Given the description of an element on the screen output the (x, y) to click on. 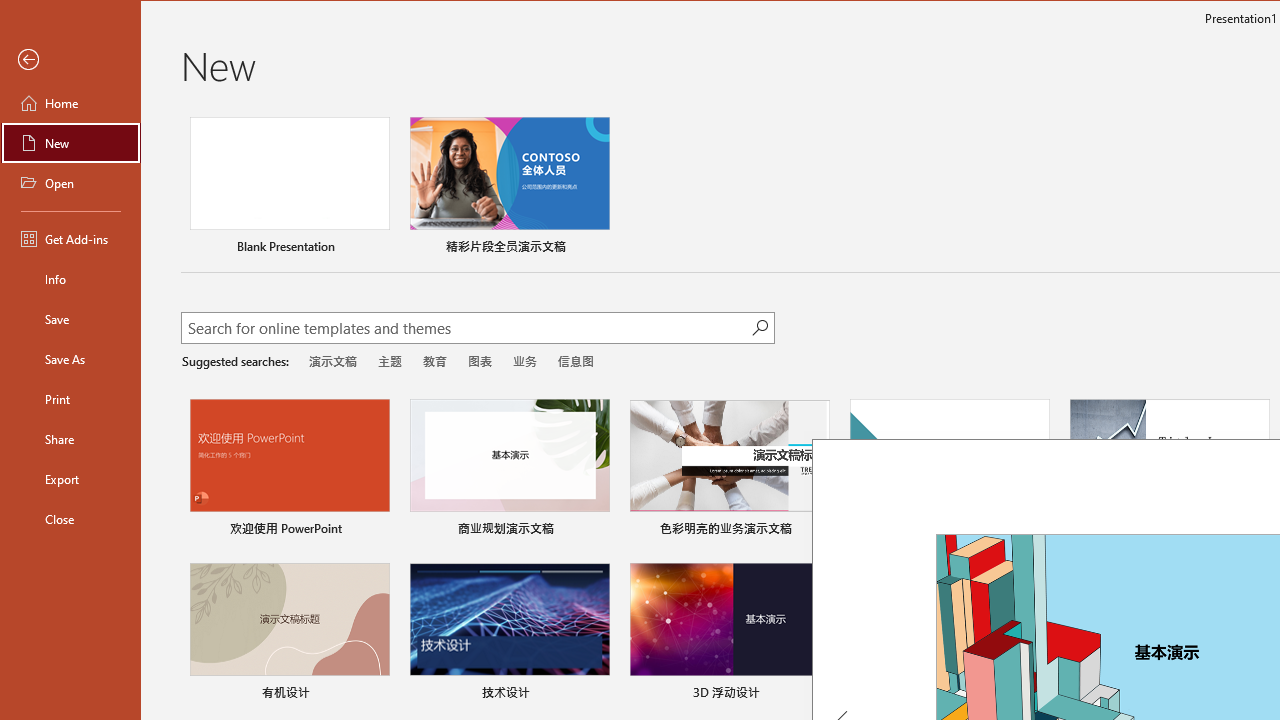
Info (70, 278)
Start searching (760, 327)
